Given the description of an element on the screen output the (x, y) to click on. 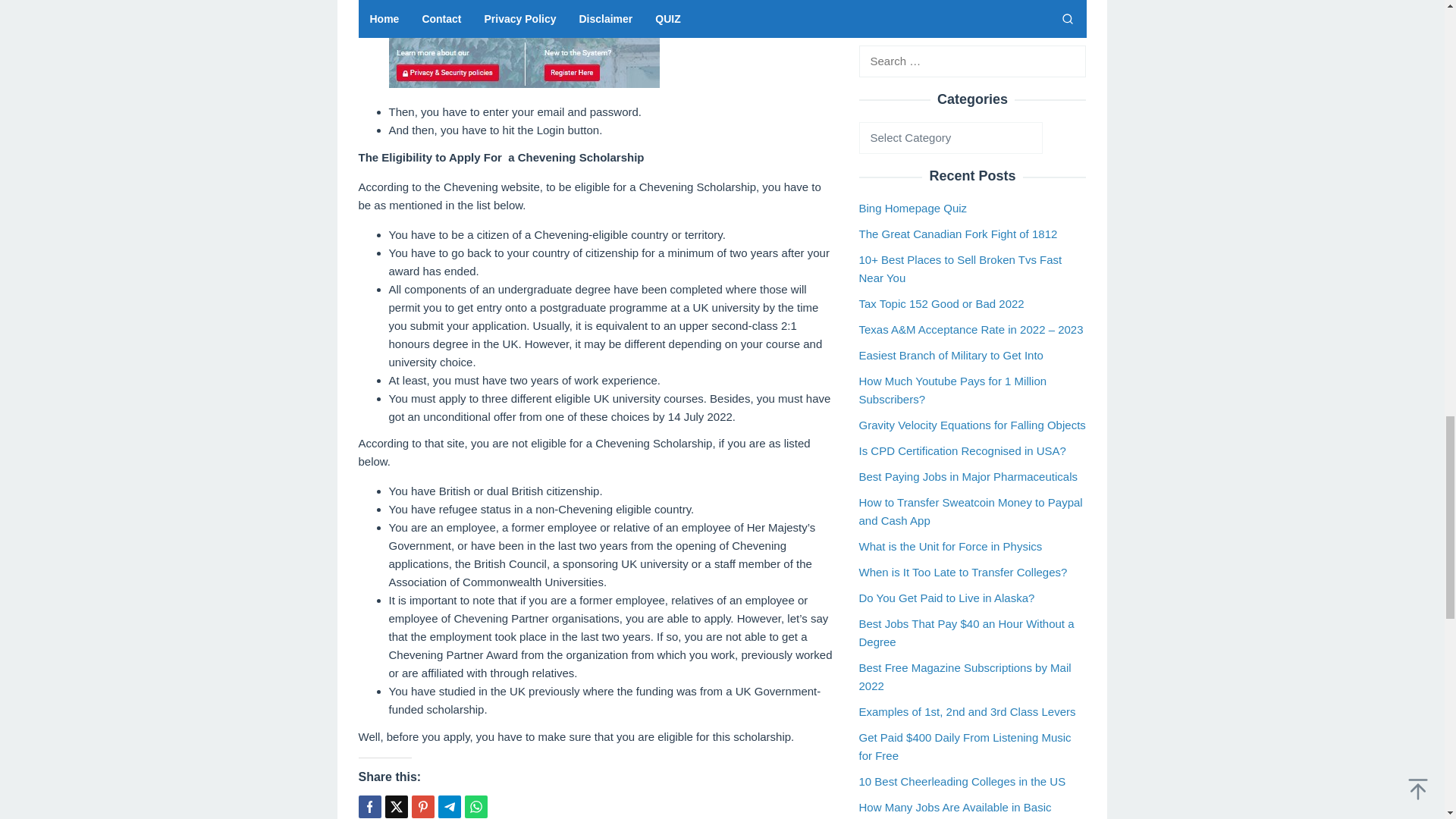
Tweet this (396, 806)
Share this (369, 806)
Pin this (421, 806)
Telegram Share (449, 806)
Whatsapp (475, 806)
